Given the description of an element on the screen output the (x, y) to click on. 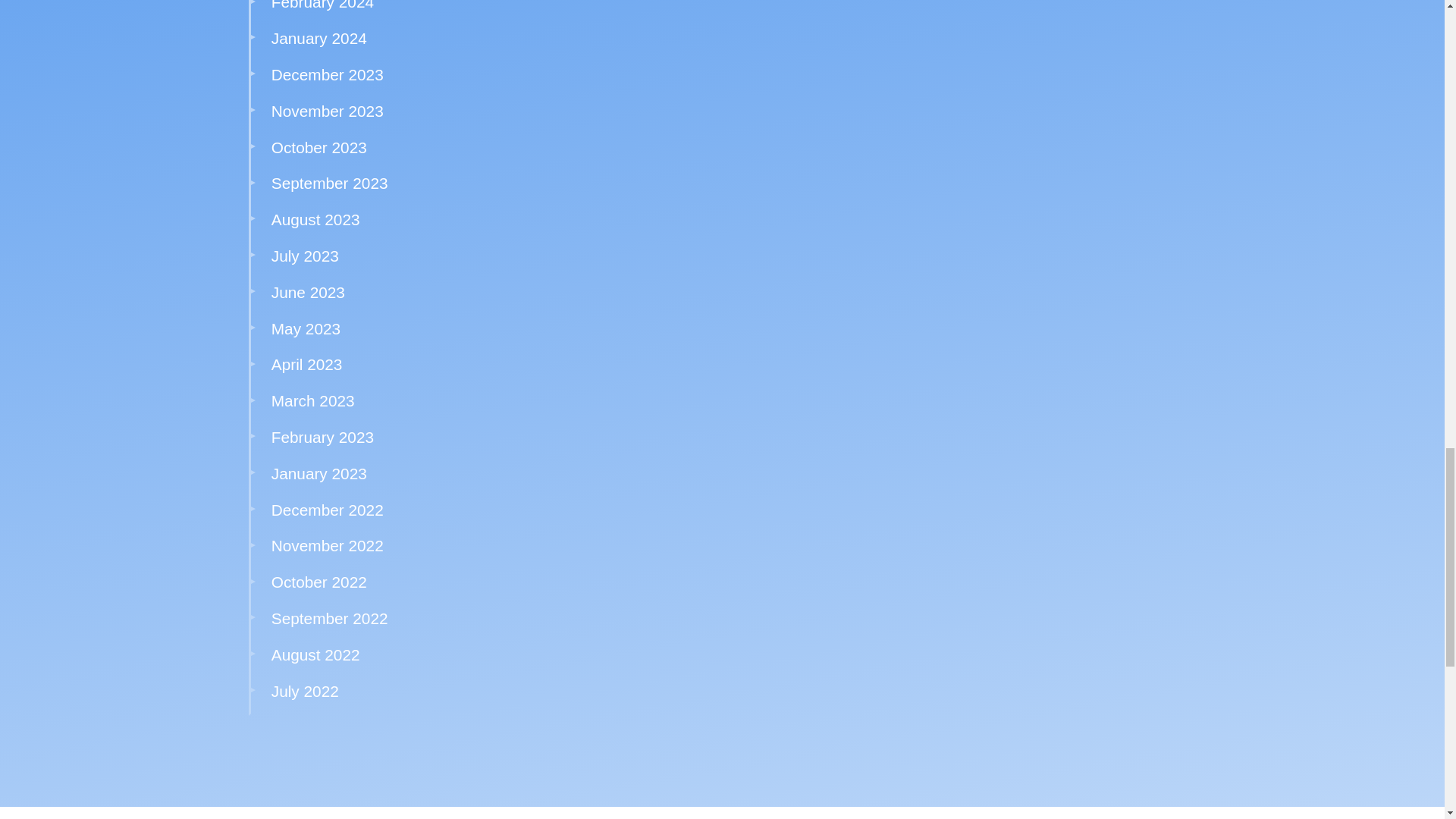
July 2022 (304, 691)
November 2023 (327, 110)
October 2022 (318, 581)
February 2024 (322, 5)
December 2022 (327, 509)
August 2023 (314, 219)
July 2023 (304, 255)
February 2023 (322, 436)
November 2022 (327, 545)
June 2023 (307, 292)
September 2023 (329, 182)
August 2022 (314, 654)
October 2023 (318, 147)
May 2023 (305, 328)
April 2023 (306, 364)
